Given the description of an element on the screen output the (x, y) to click on. 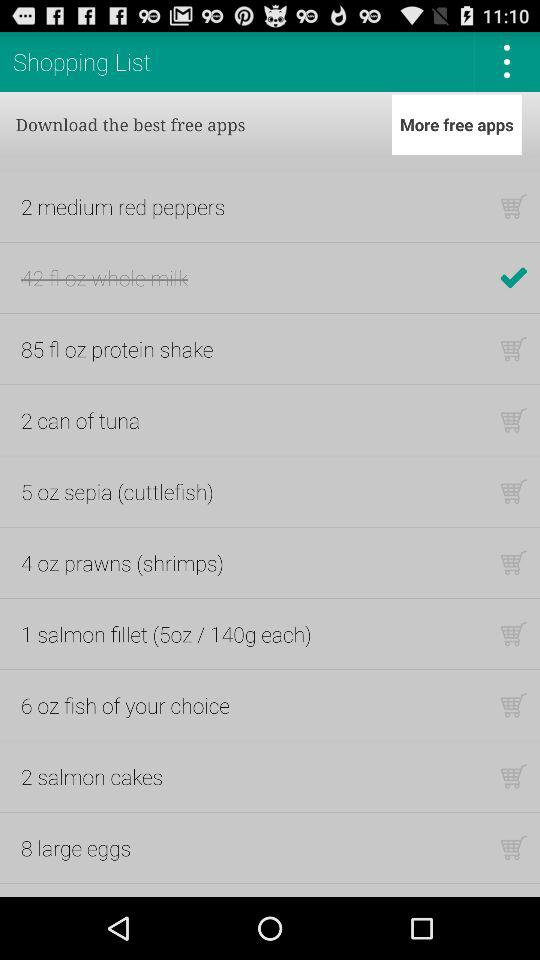
click the item below 6 oz fish item (91, 776)
